Given the description of an element on the screen output the (x, y) to click on. 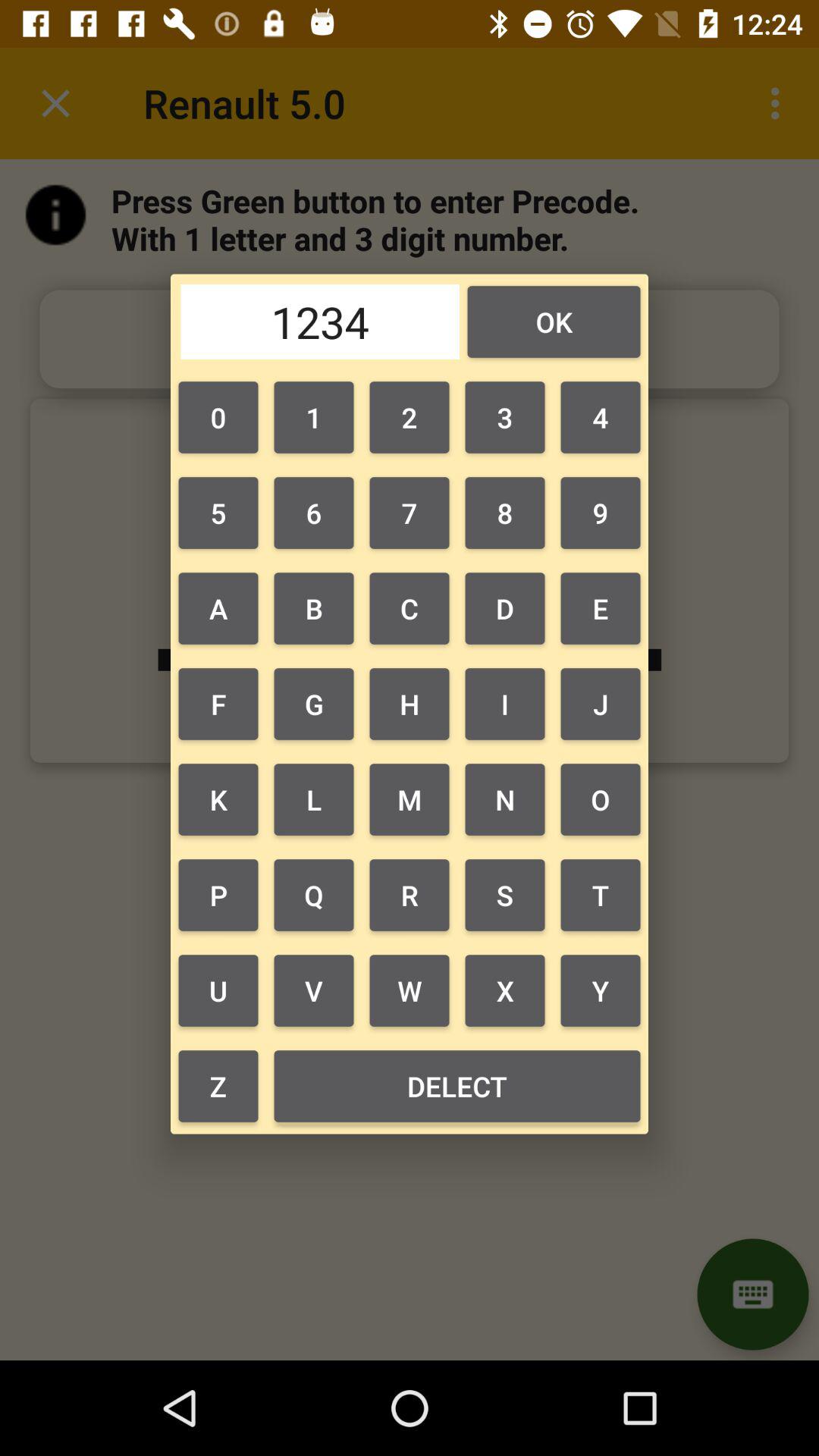
jump to g icon (313, 703)
